Given the description of an element on the screen output the (x, y) to click on. 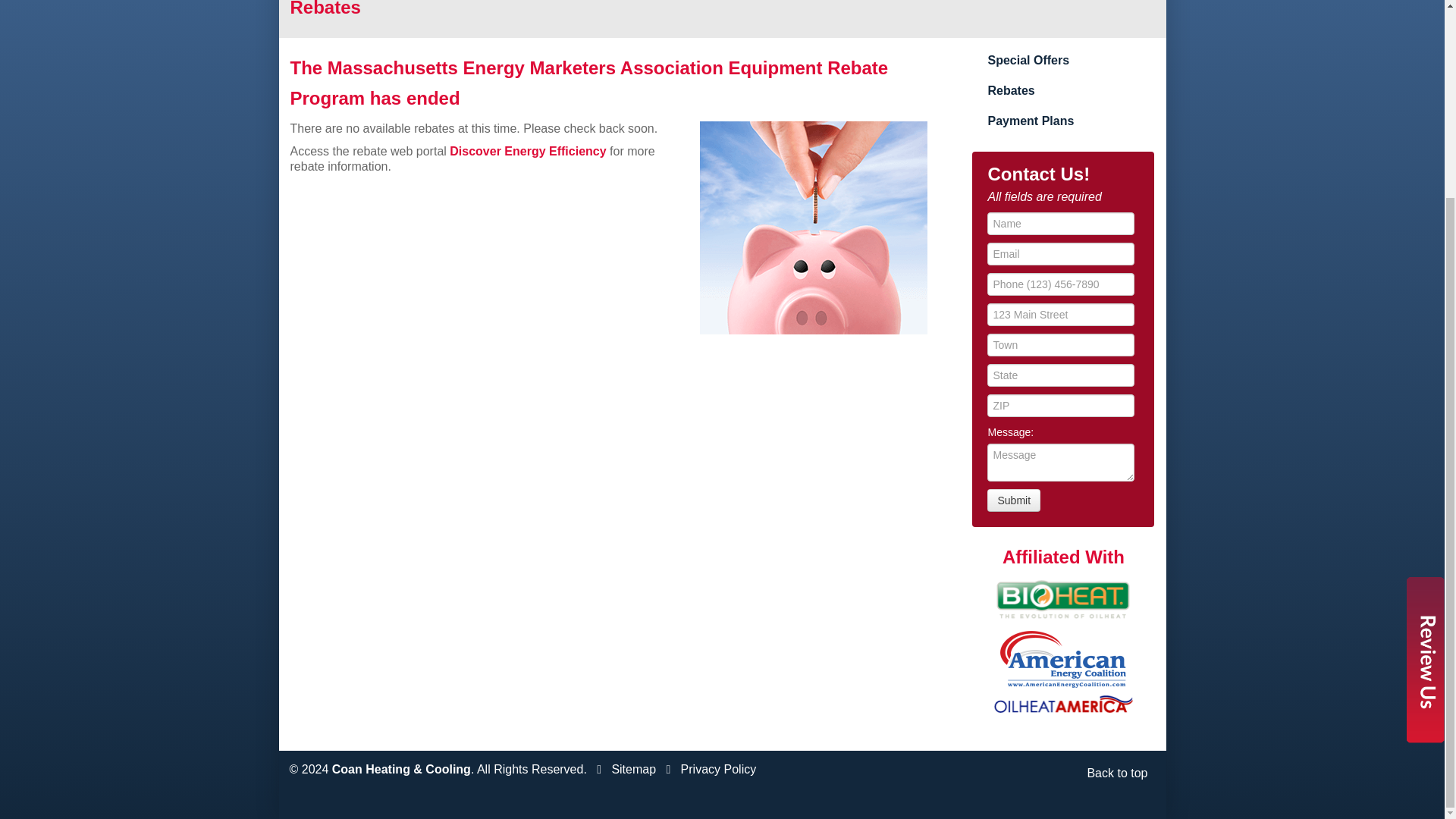
Submit (1014, 499)
